Given the description of an element on the screen output the (x, y) to click on. 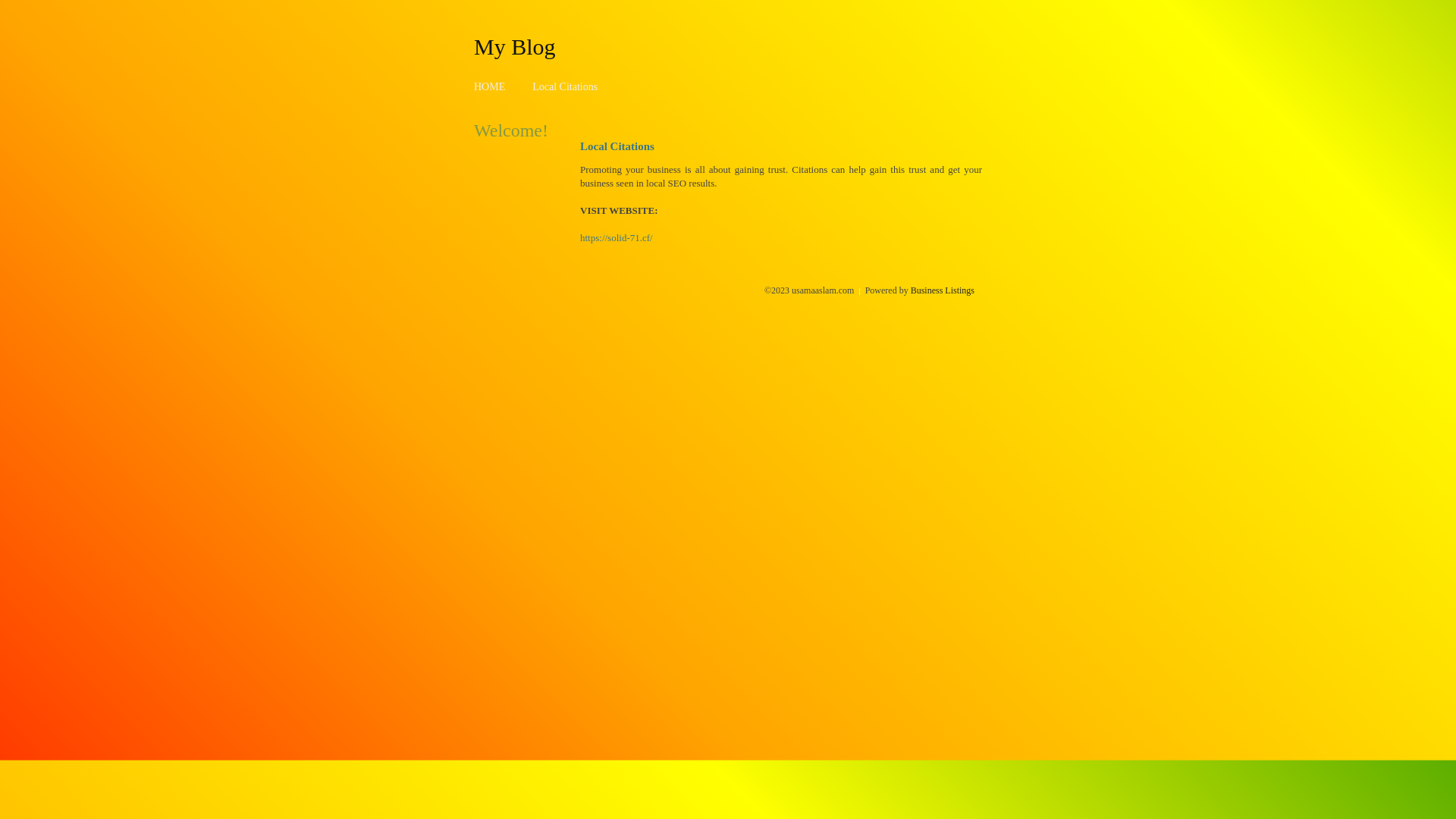
My Blog Element type: text (514, 46)
https://solid-71.cf/ Element type: text (616, 237)
Local Citations Element type: text (564, 86)
HOME Element type: text (489, 86)
Business Listings Element type: text (942, 290)
